Given the description of an element on the screen output the (x, y) to click on. 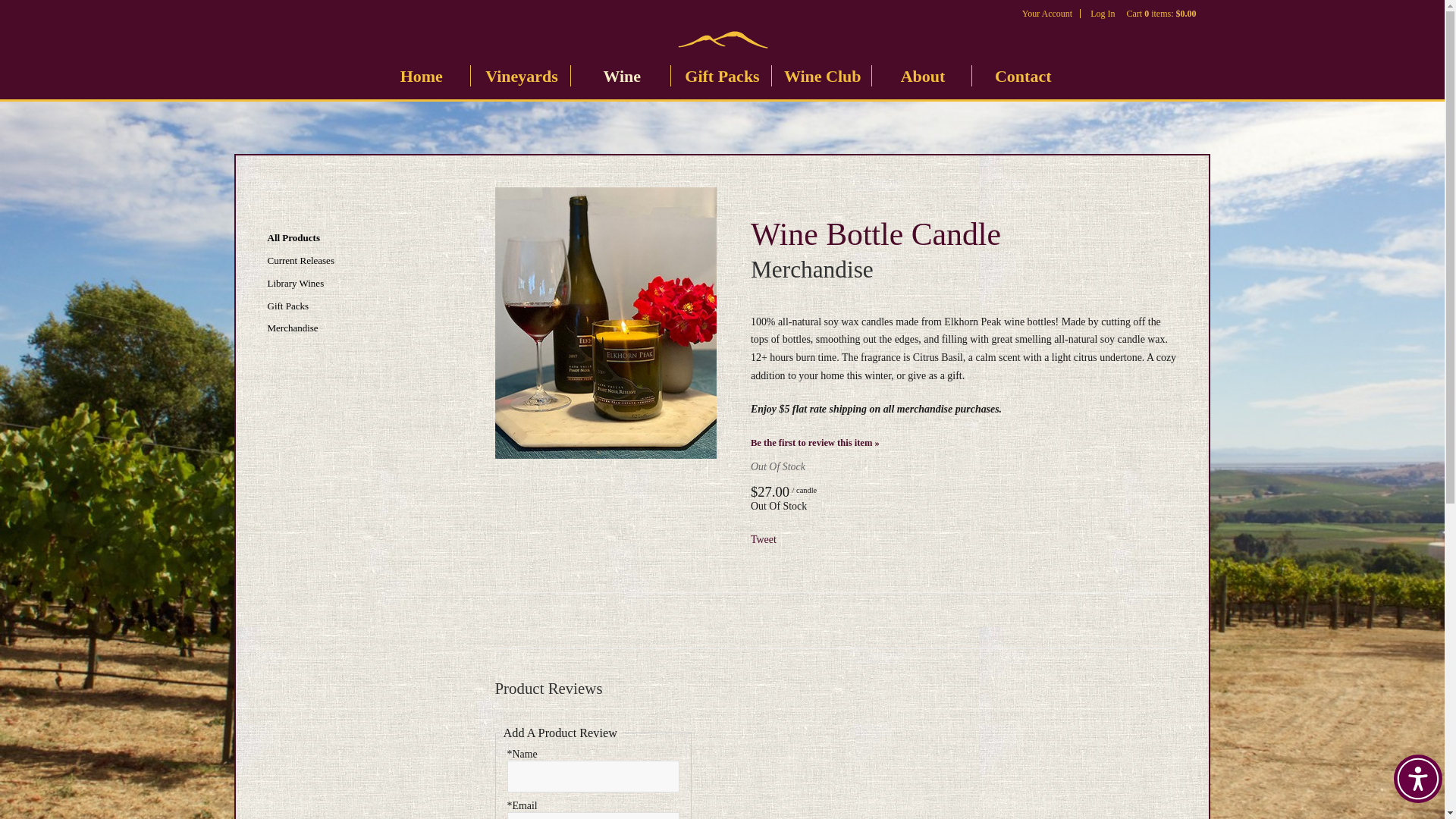
All Products (346, 237)
Your Account (1046, 13)
Wine Club (822, 75)
Merchandise (346, 328)
Current Releases (346, 260)
Home (421, 75)
Tweet (763, 539)
Elkhorn Peak Cellars (721, 39)
Log In (1102, 13)
Gift Packs (346, 305)
About (922, 75)
Library Wines (346, 283)
Vineyards (520, 75)
Accessibility Menu (1417, 778)
Contact (1022, 75)
